Given the description of an element on the screen output the (x, y) to click on. 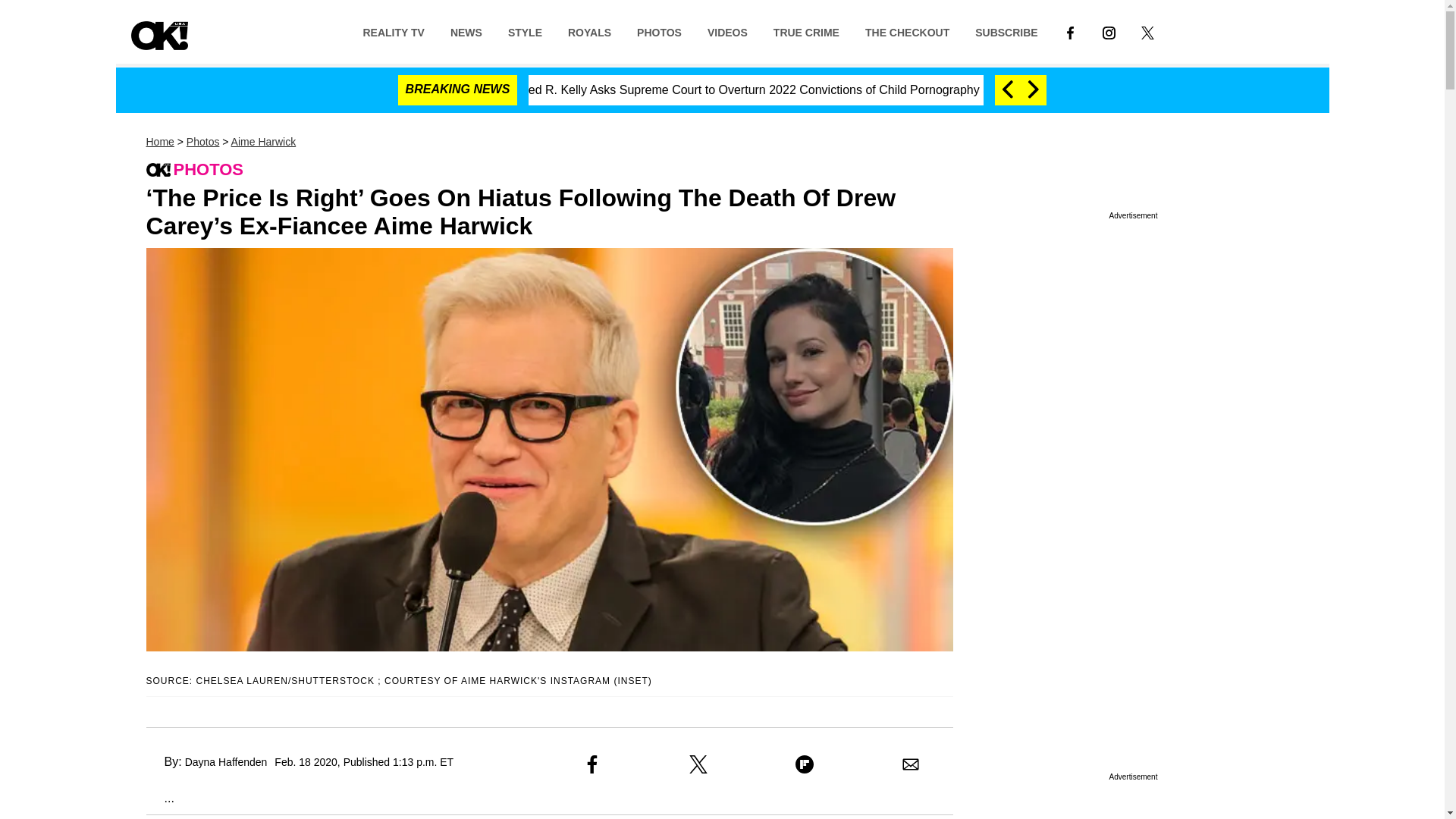
... (159, 797)
Home (159, 141)
LINK TO INSTAGRAM (1108, 32)
Link to Facebook (1070, 31)
Link to X (1147, 31)
LINK TO FACEBOOK (1070, 31)
Photos (202, 141)
THE CHECKOUT (906, 31)
Share to X (697, 764)
